Given the description of an element on the screen output the (x, y) to click on. 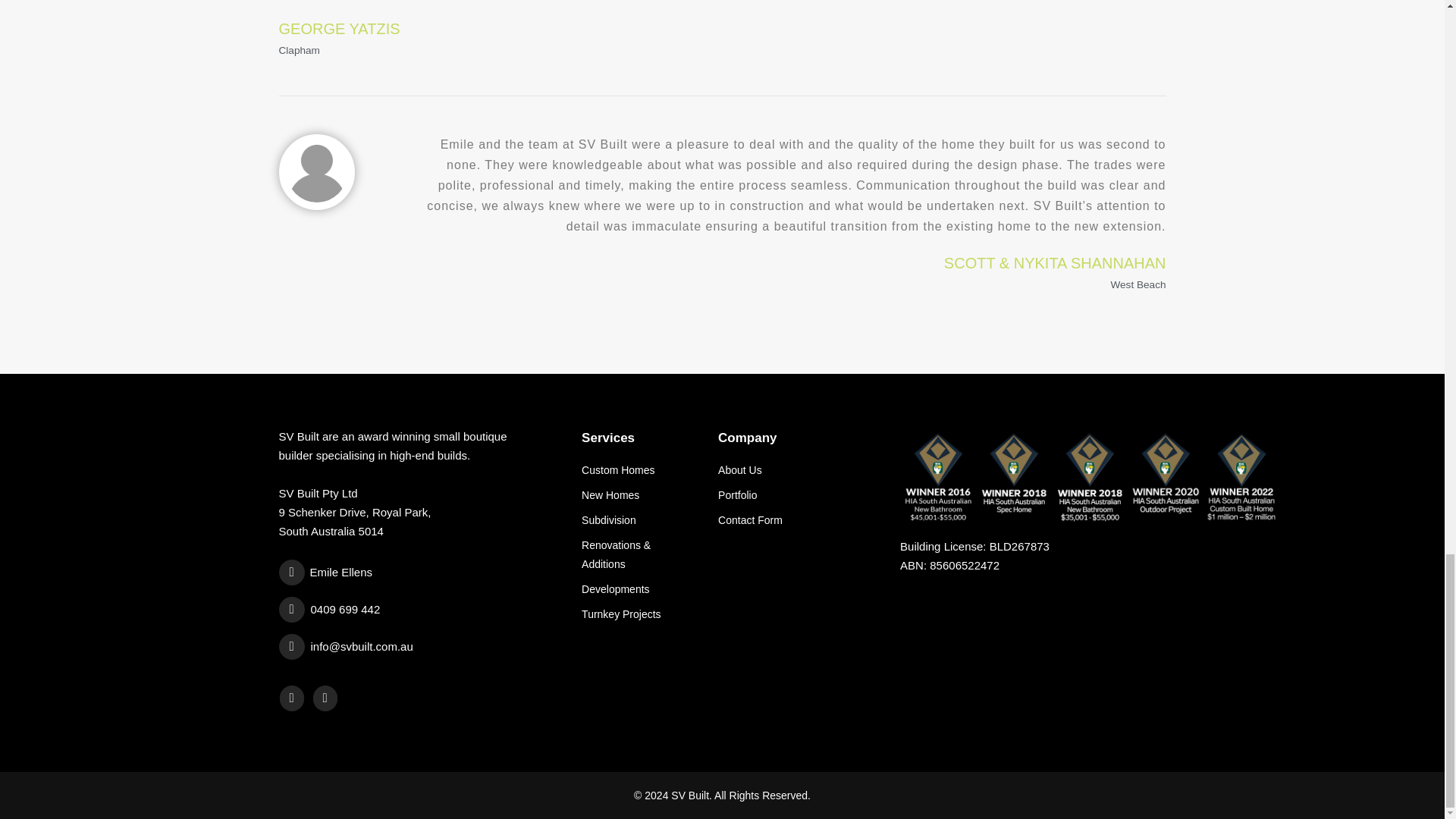
About Us (797, 470)
Subdivision Builder Adelaide (637, 520)
New Home Builders Adelaide (637, 495)
Contact Form (797, 520)
New Homes (637, 495)
Turnkey Projects (637, 614)
0409 699 442 (402, 609)
Subdivision (637, 520)
Developments (637, 588)
Portfolio (797, 495)
Custom Builders Adelaide (637, 470)
Custom Homes (637, 470)
